Given the description of an element on the screen output the (x, y) to click on. 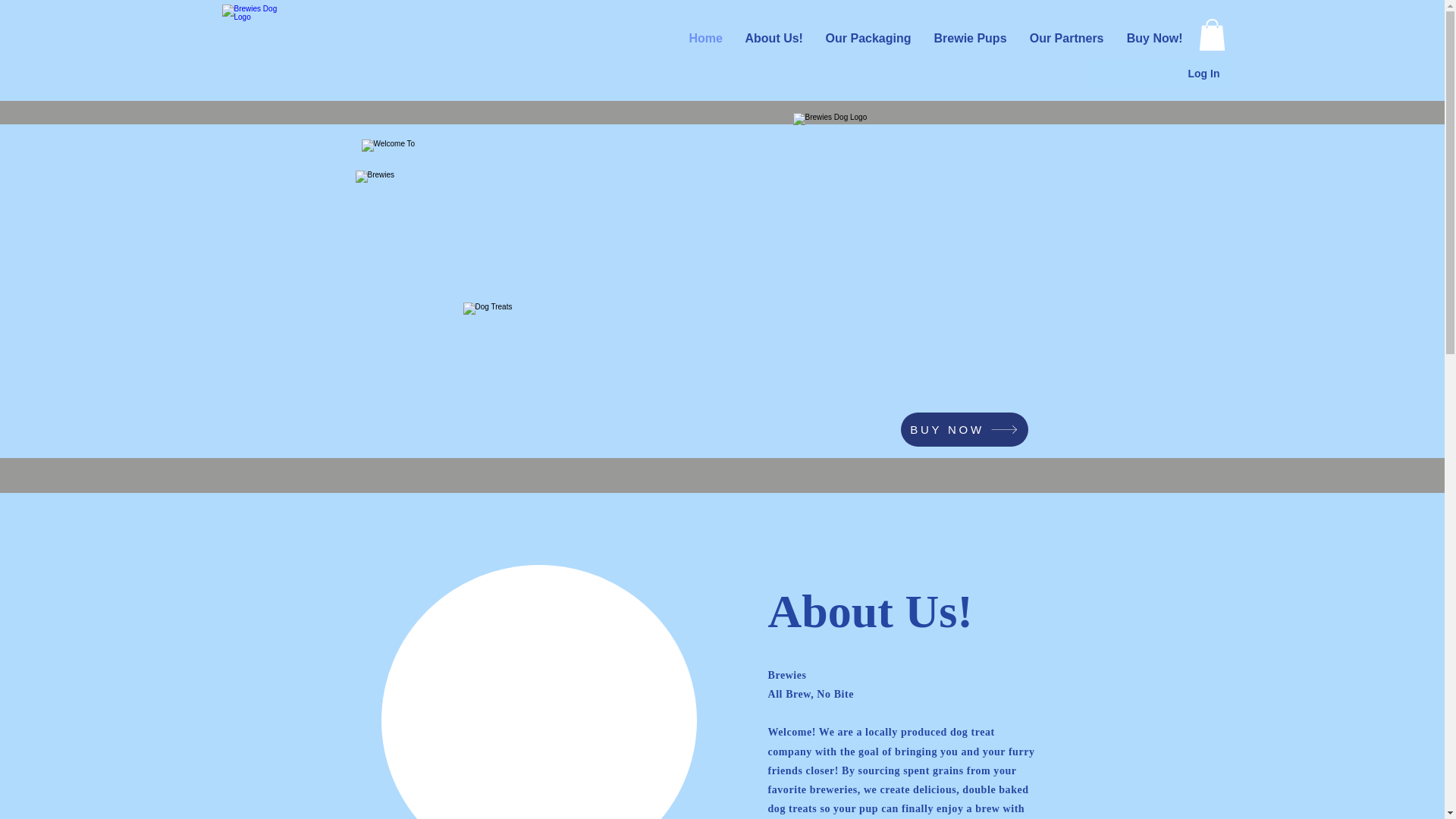
Our Partners (1066, 38)
Brewie Pups (969, 38)
BUY NOW (964, 429)
Log In (1203, 74)
About Us! (773, 38)
Our Packaging (868, 38)
Buy Now! (1154, 38)
Home (705, 38)
